Given the description of an element on the screen output the (x, y) to click on. 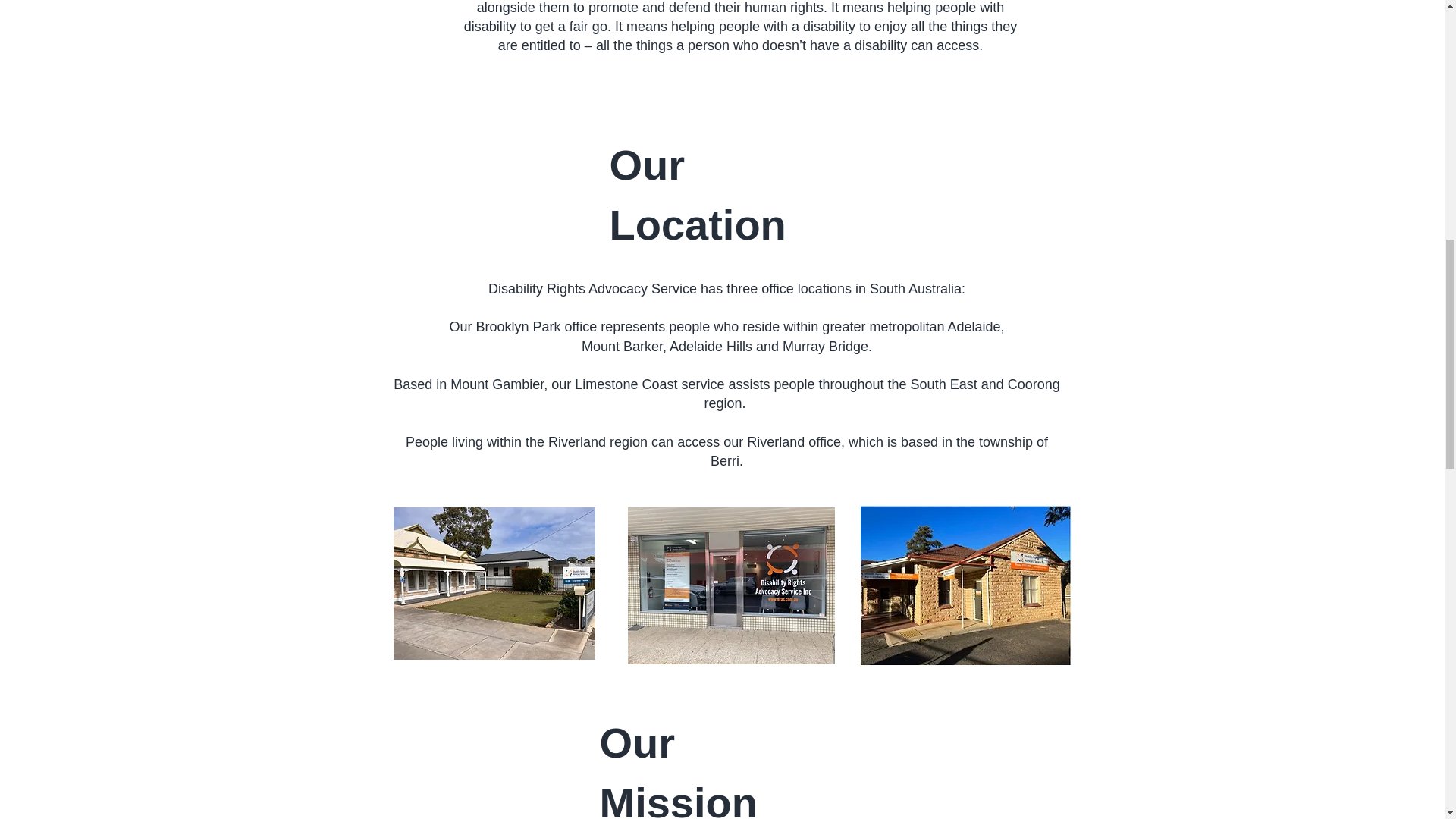
Berri Building.jpg (965, 586)
Mount Gambier Office.jpeg (730, 585)
Dras House.jpg (493, 583)
